Given the description of an element on the screen output the (x, y) to click on. 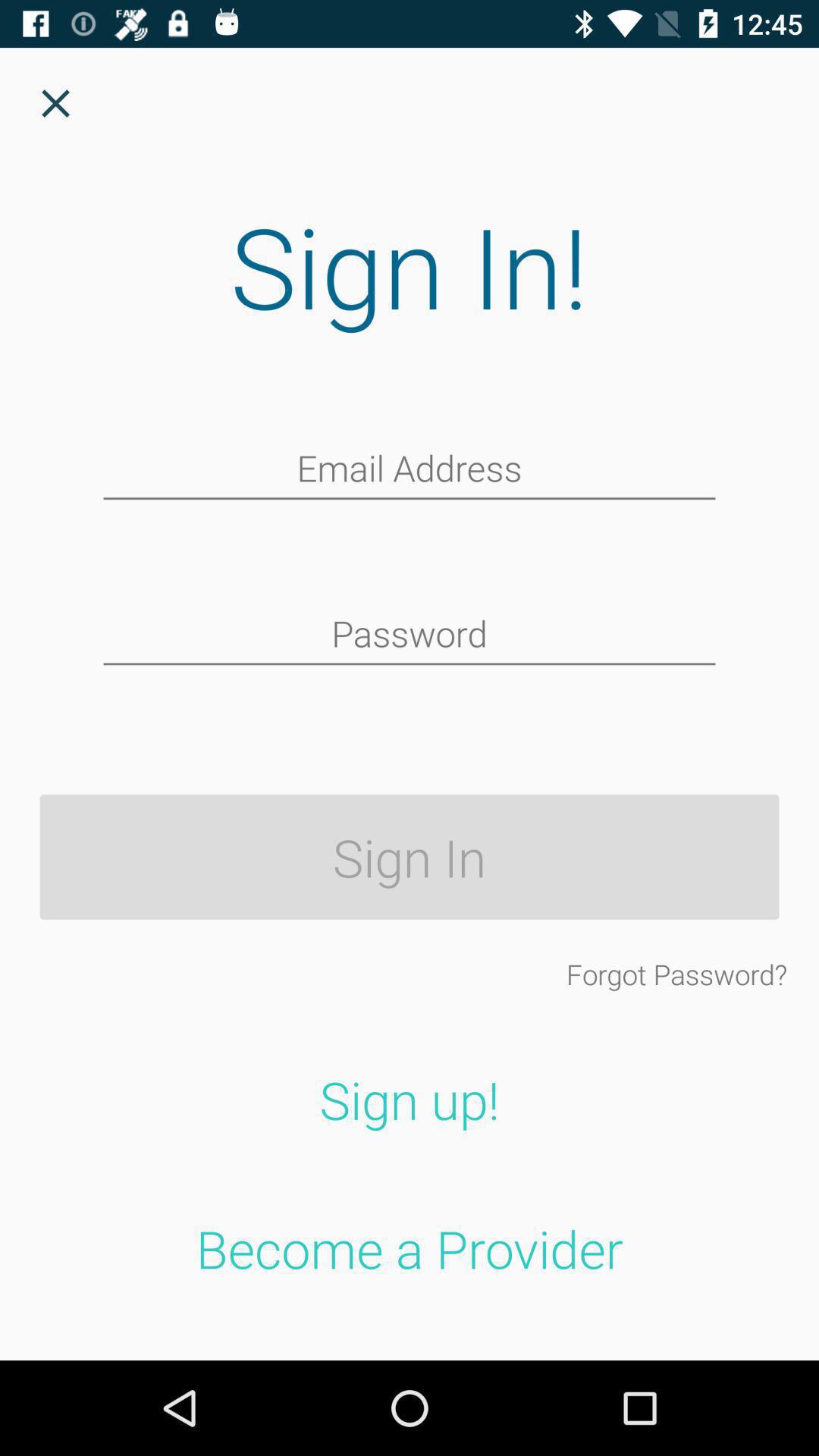
launch the icon above sign up! item (676, 974)
